Given the description of an element on the screen output the (x, y) to click on. 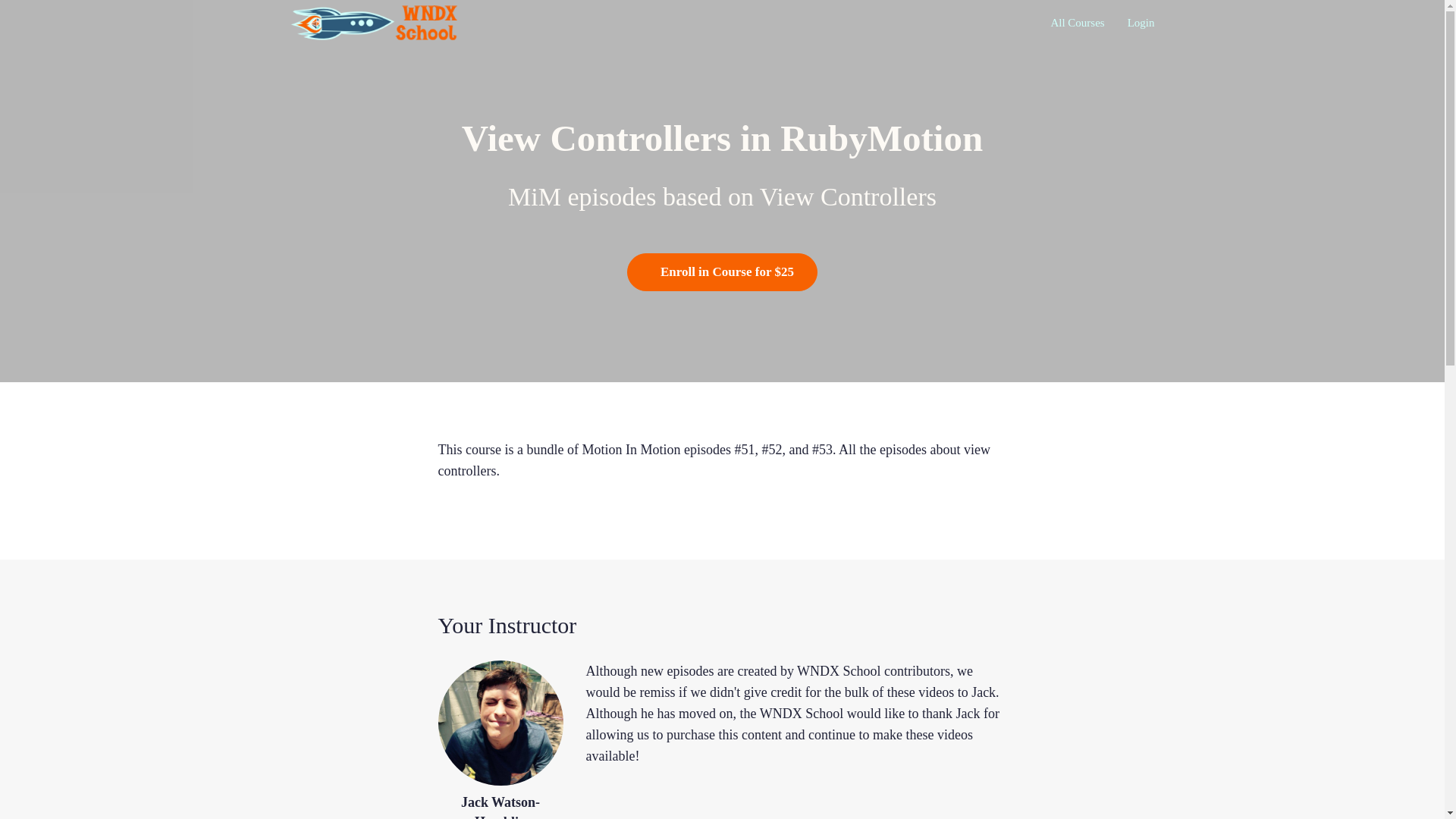
All Courses (1077, 22)
Login (1141, 22)
